Given the description of an element on the screen output the (x, y) to click on. 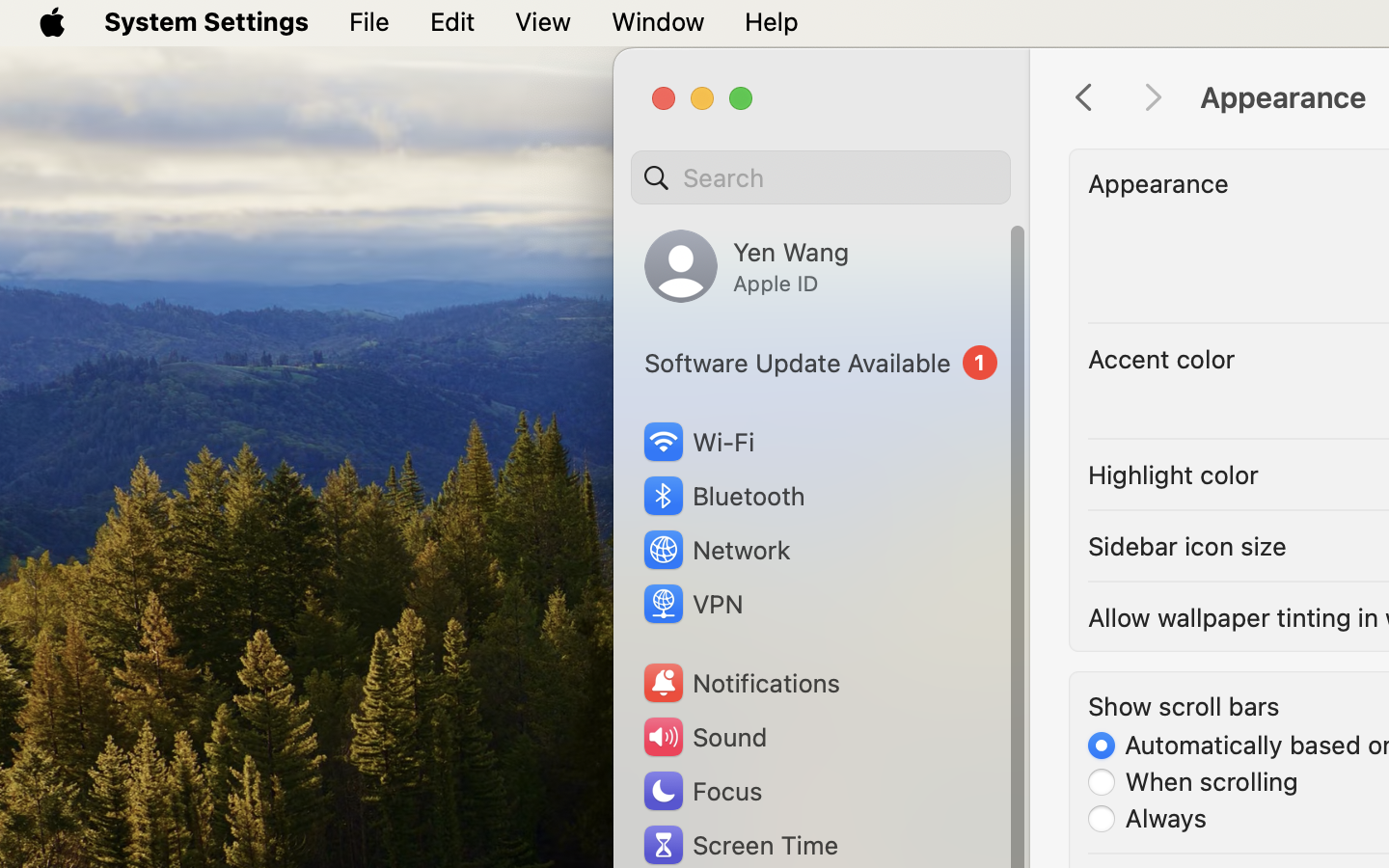
Wi‑Fi Element type: AXStaticText (697, 441)
Sound Element type: AXStaticText (703, 736)
Network Element type: AXStaticText (715, 549)
Accent color Element type: AXStaticText (1161, 358)
Notifications Element type: AXStaticText (740, 682)
